Given the description of an element on the screen output the (x, y) to click on. 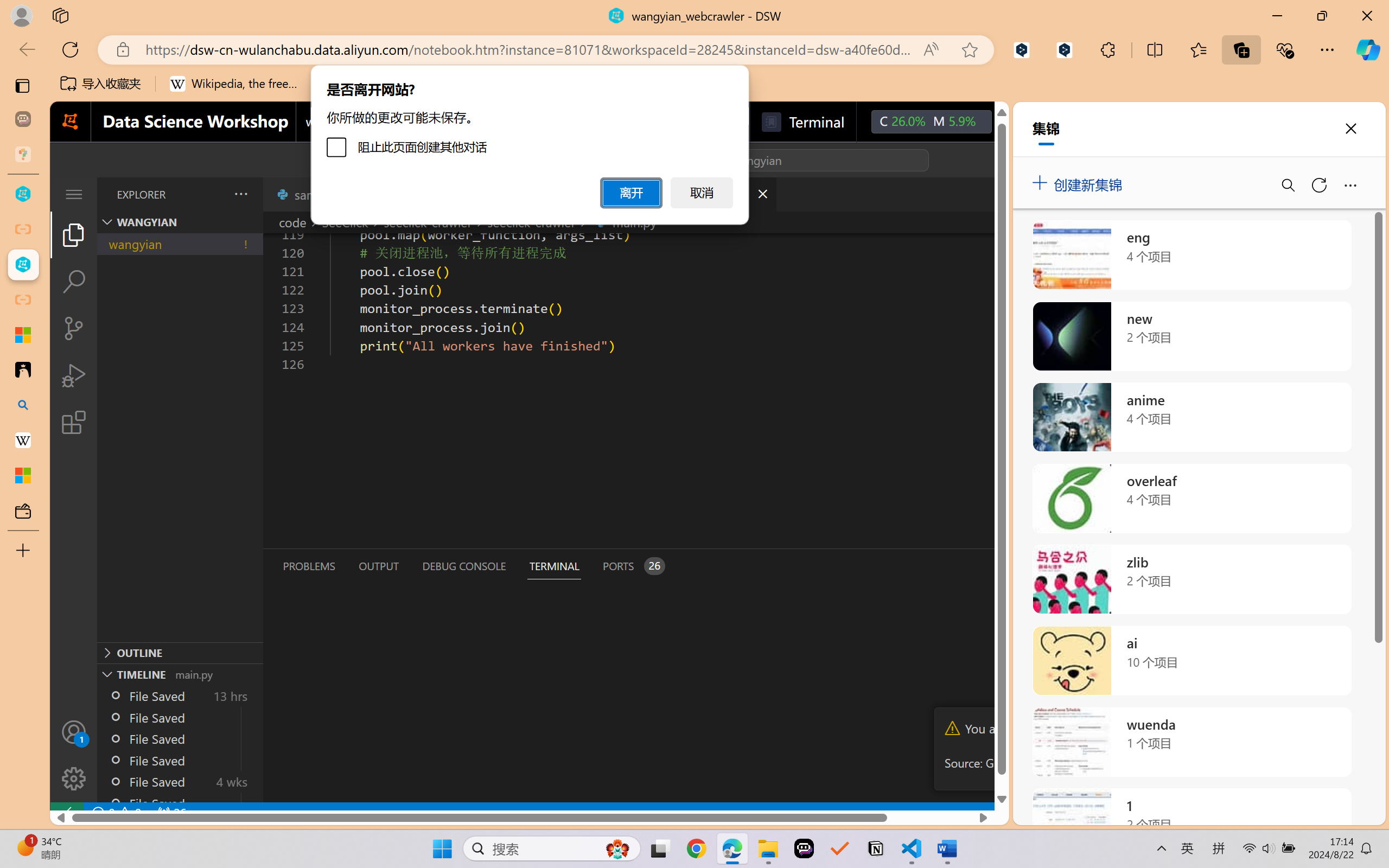
Application Menu (73, 194)
Ports - 26 forwarded ports (632, 565)
Manage (73, 755)
Outline Section (179, 652)
Class: next-menu next-hoz widgets--iconMenu--BFkiHRM (1015, 121)
Timeline Section (179, 673)
wangyian_dsw - DSW (22, 194)
Manage (73, 778)
